Given the description of an element on the screen output the (x, y) to click on. 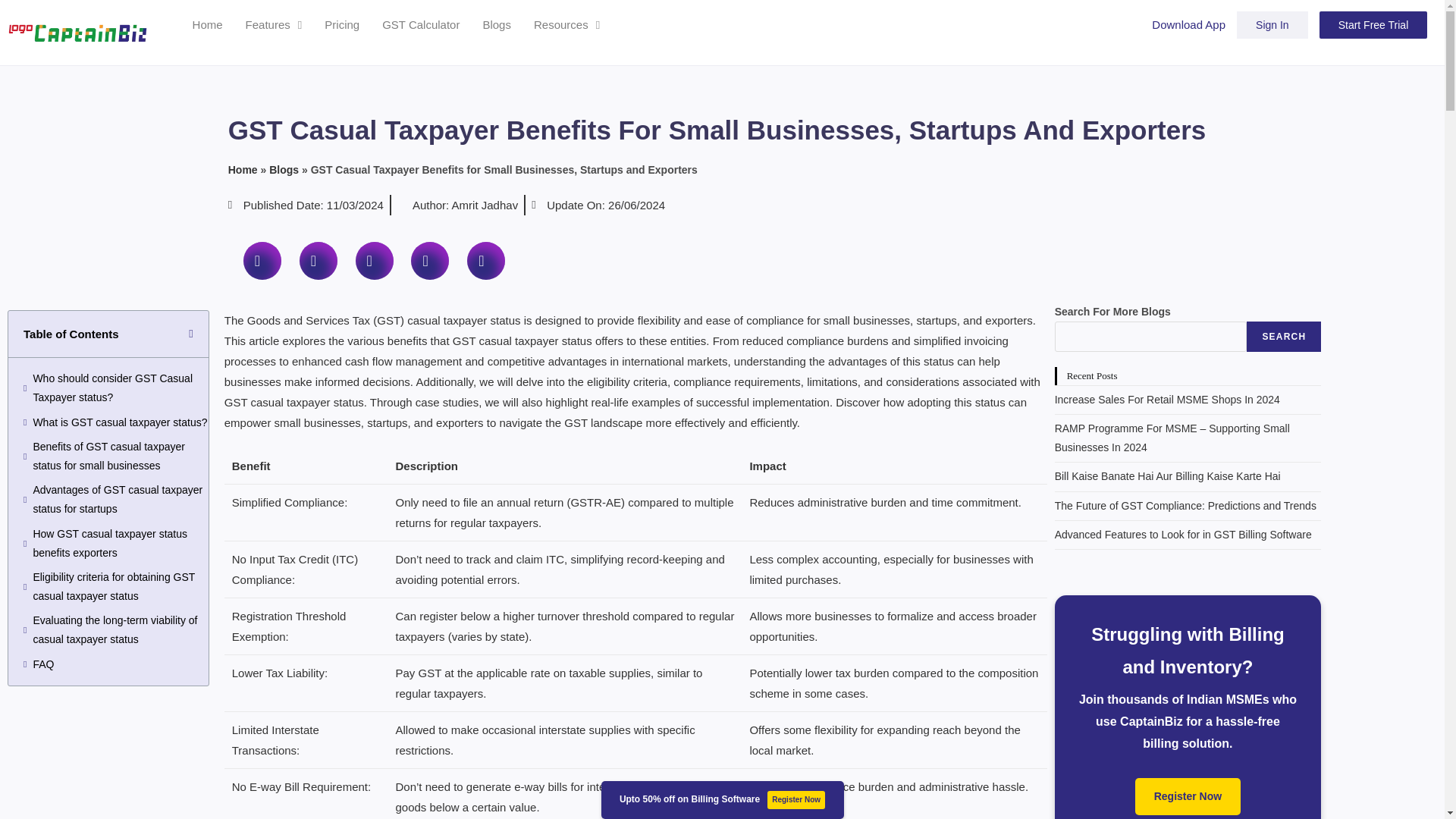
Home (207, 24)
Resources (566, 24)
Features (274, 24)
GST Calculator (420, 24)
Pricing (342, 24)
Blogs (496, 24)
